Given the description of an element on the screen output the (x, y) to click on. 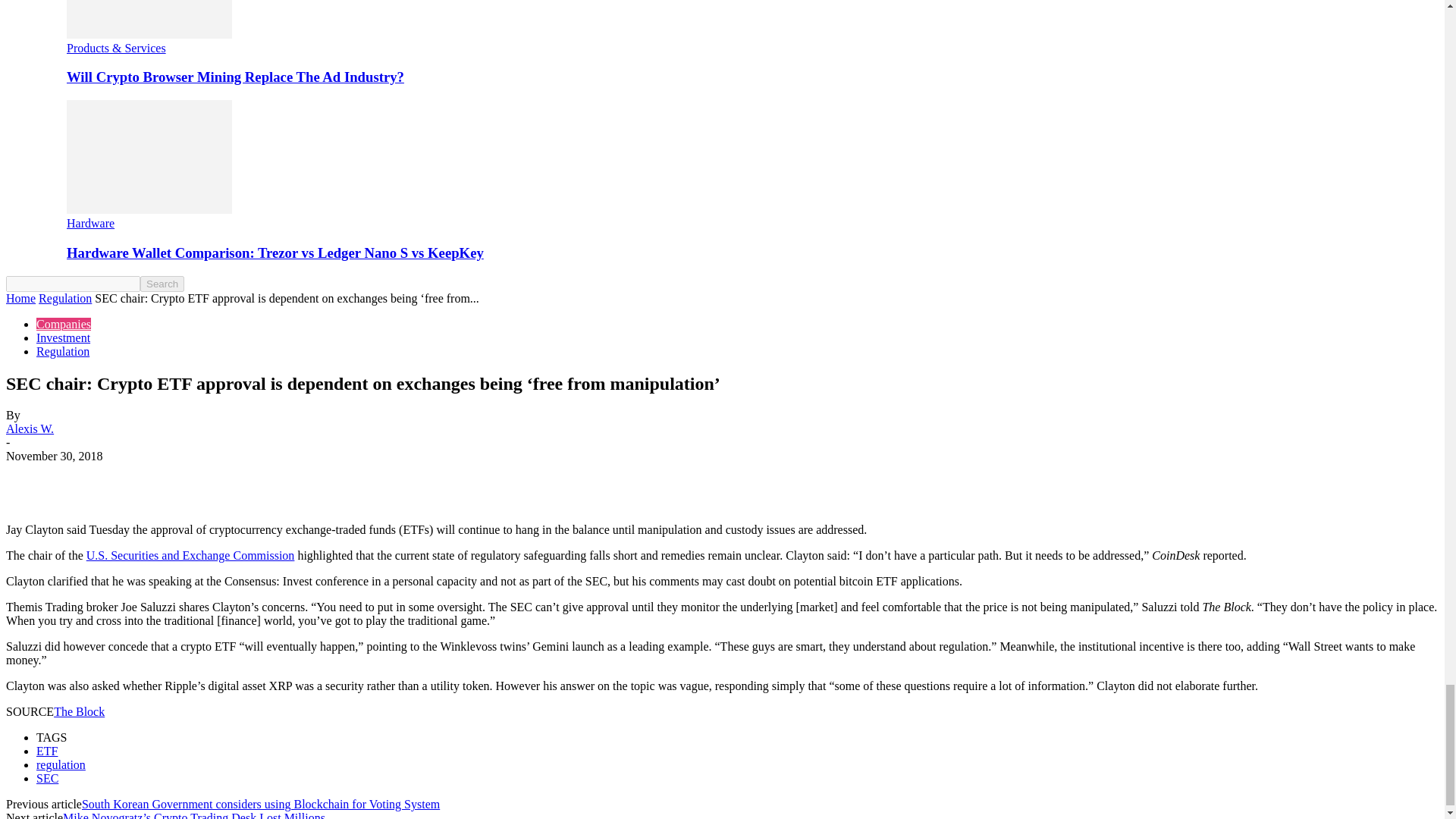
Search (161, 283)
